Given the description of an element on the screen output the (x, y) to click on. 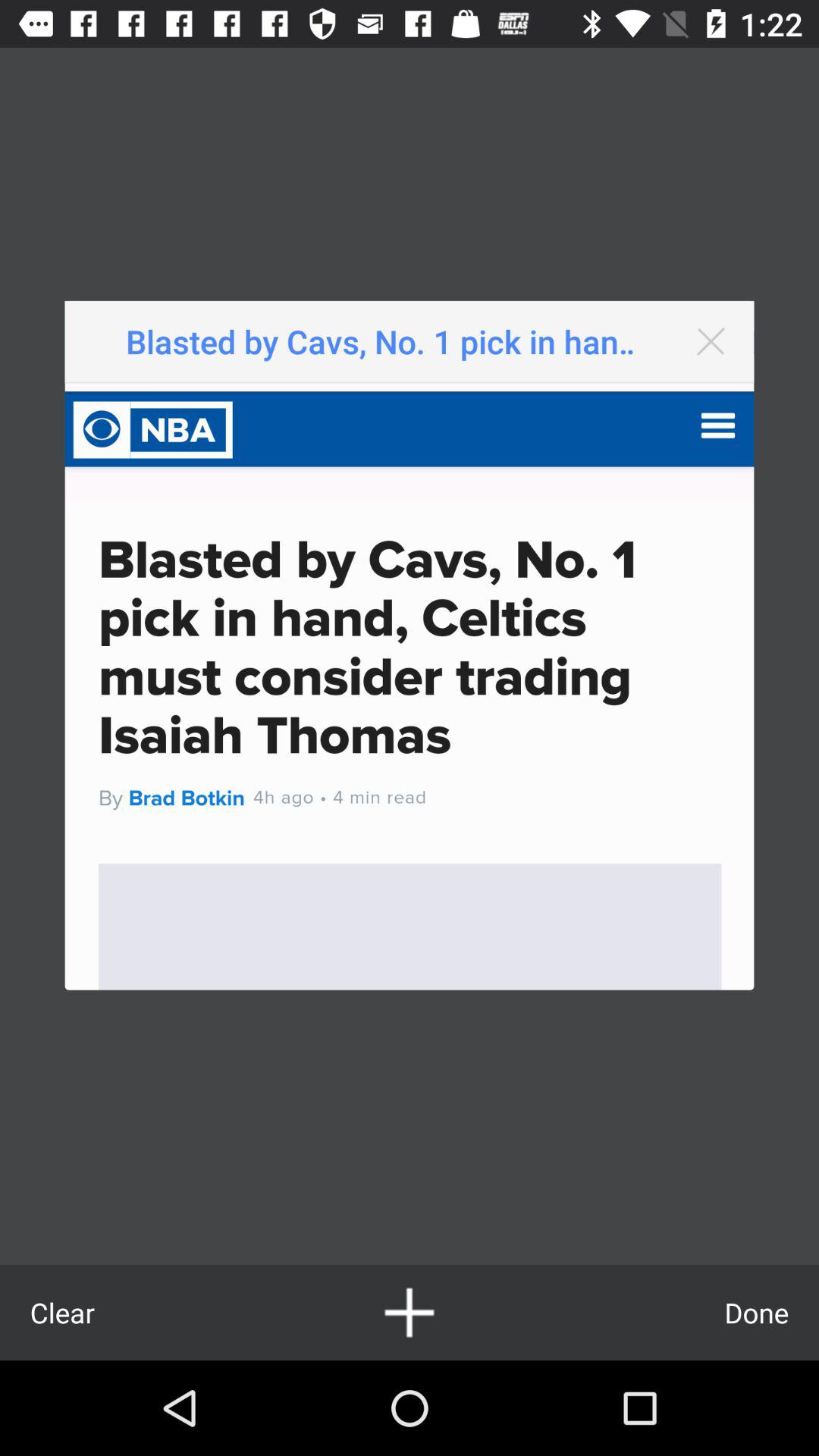
turn on app next to done item (409, 1312)
